Given the description of an element on the screen output the (x, y) to click on. 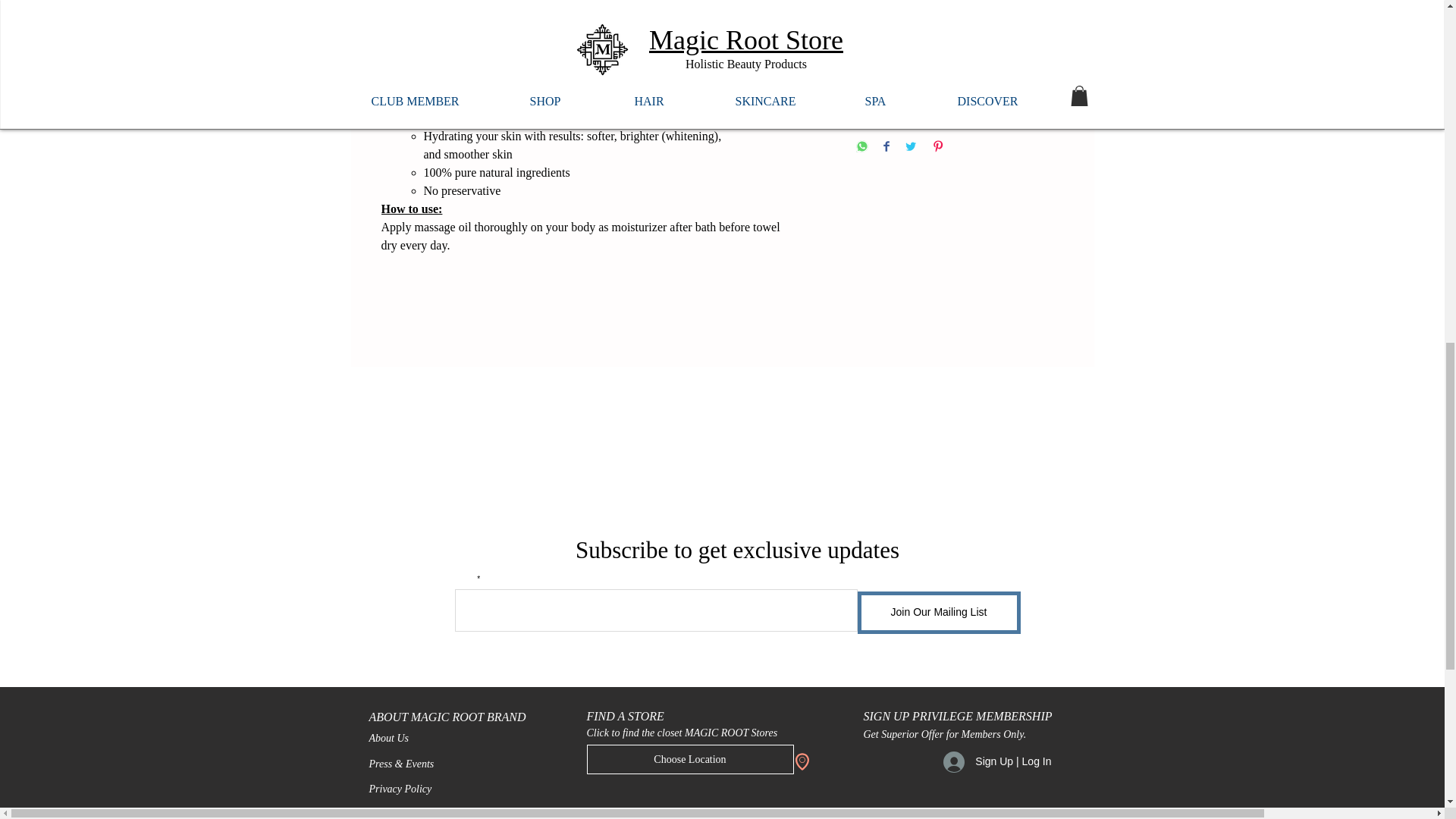
Join Our Mailing List (938, 612)
Choose Location (689, 758)
About Us (388, 737)
Privacy Policy (399, 788)
BUY NOW (959, 107)
1 (888, 7)
ADD TO BAG (936, 60)
